Given the description of an element on the screen output the (x, y) to click on. 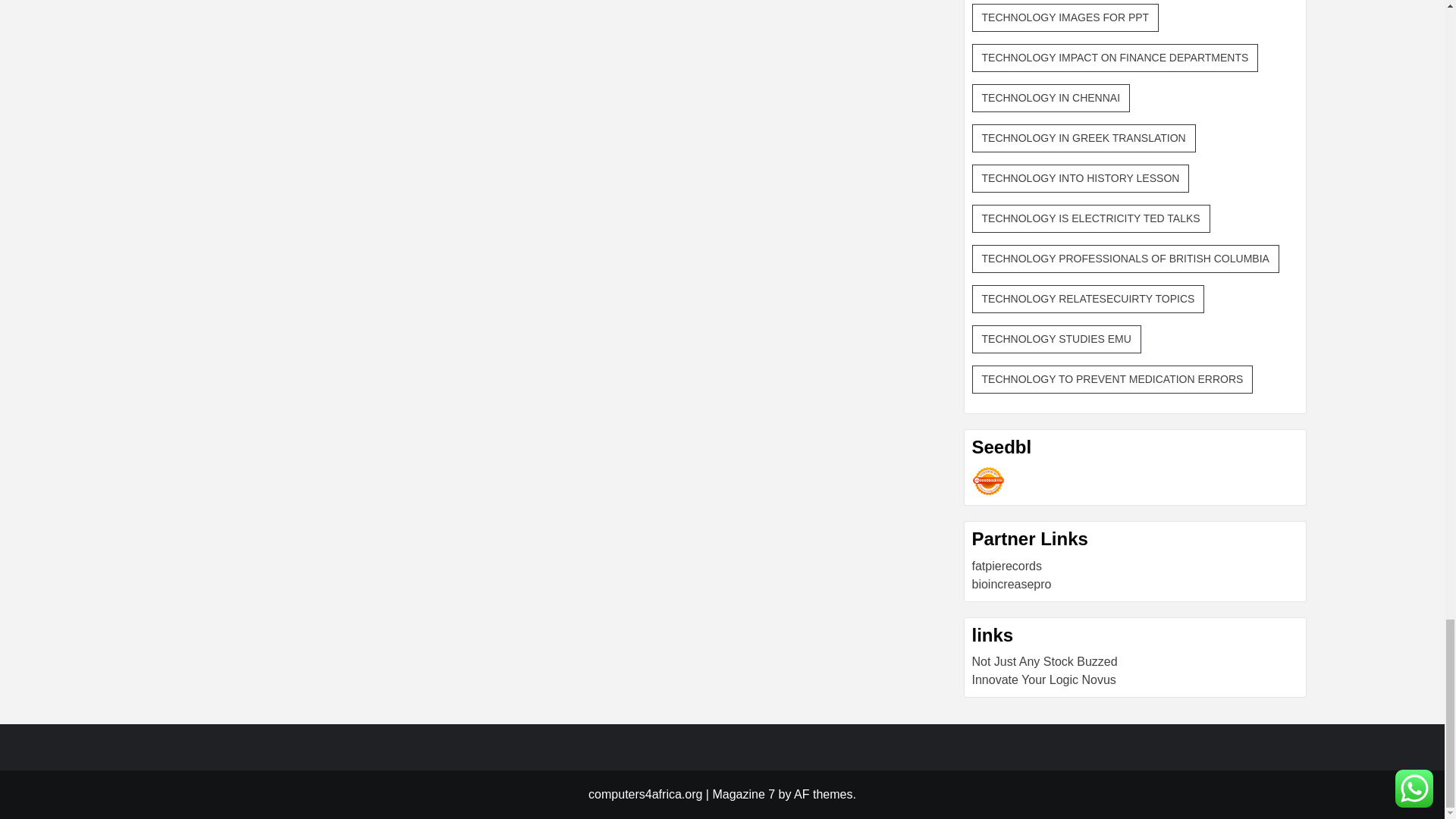
Seedbacklink (988, 481)
